Given the description of an element on the screen output the (x, y) to click on. 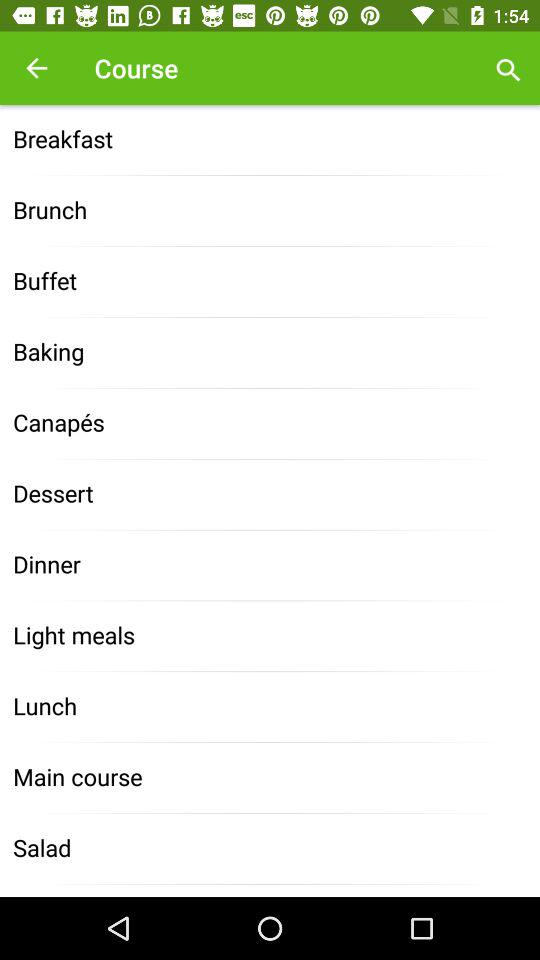
press the icon above the baking item (270, 281)
